Given the description of an element on the screen output the (x, y) to click on. 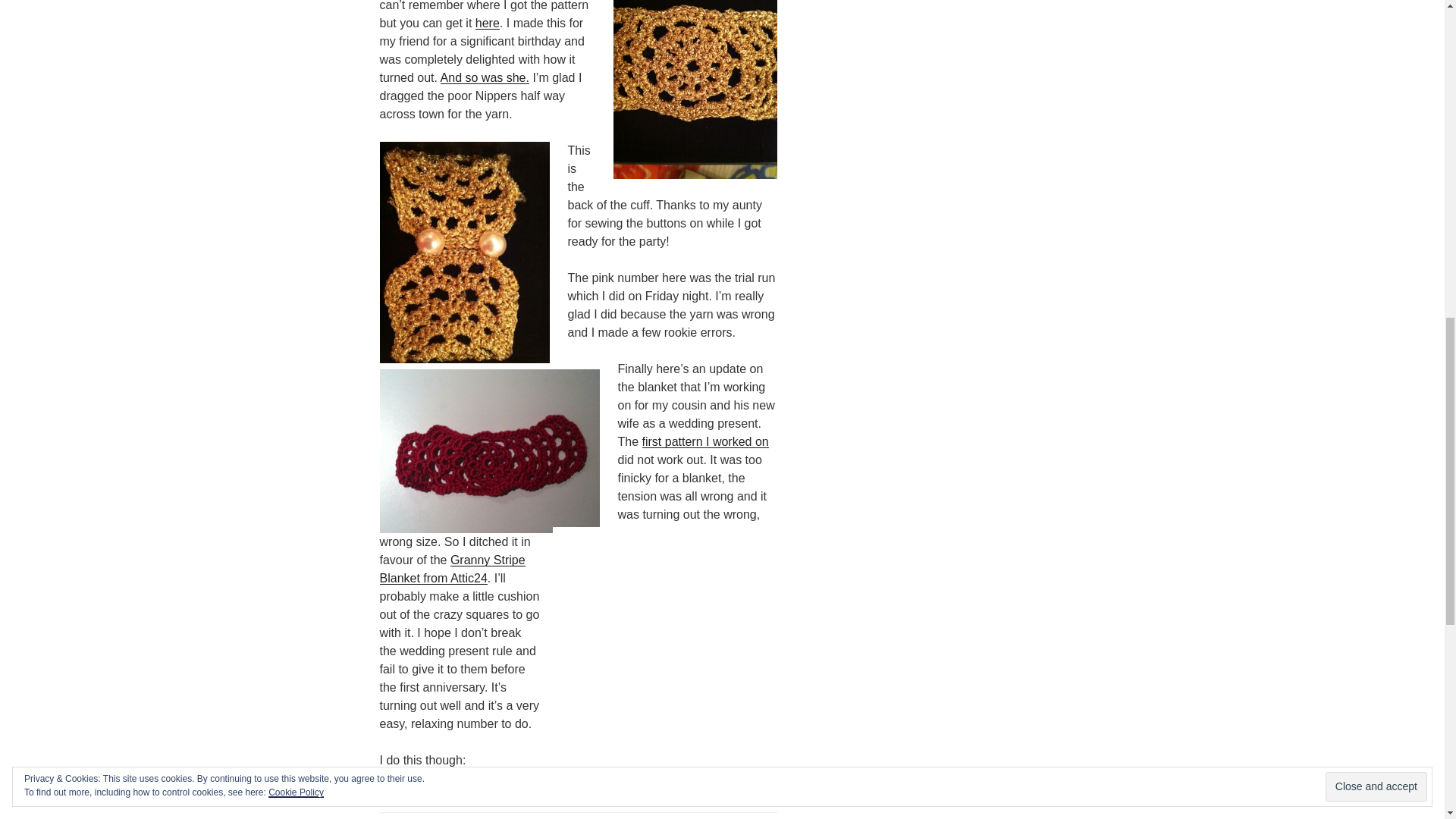
Click here to get the pattern yourself (451, 568)
Click here to find out who was the lucky recipient (485, 77)
Click here to see how it was going (705, 440)
Granny Stripe Blanket from Attic24 (451, 568)
Trial run of Julie Cuff. Lumpy (488, 451)
Wedding present for the cousin (668, 642)
Julie Cuff in Gold in Anchor Artiste Metallic (694, 89)
And so was she. (485, 77)
here (487, 22)
first pattern I worked on (705, 440)
